Given the description of an element on the screen output the (x, y) to click on. 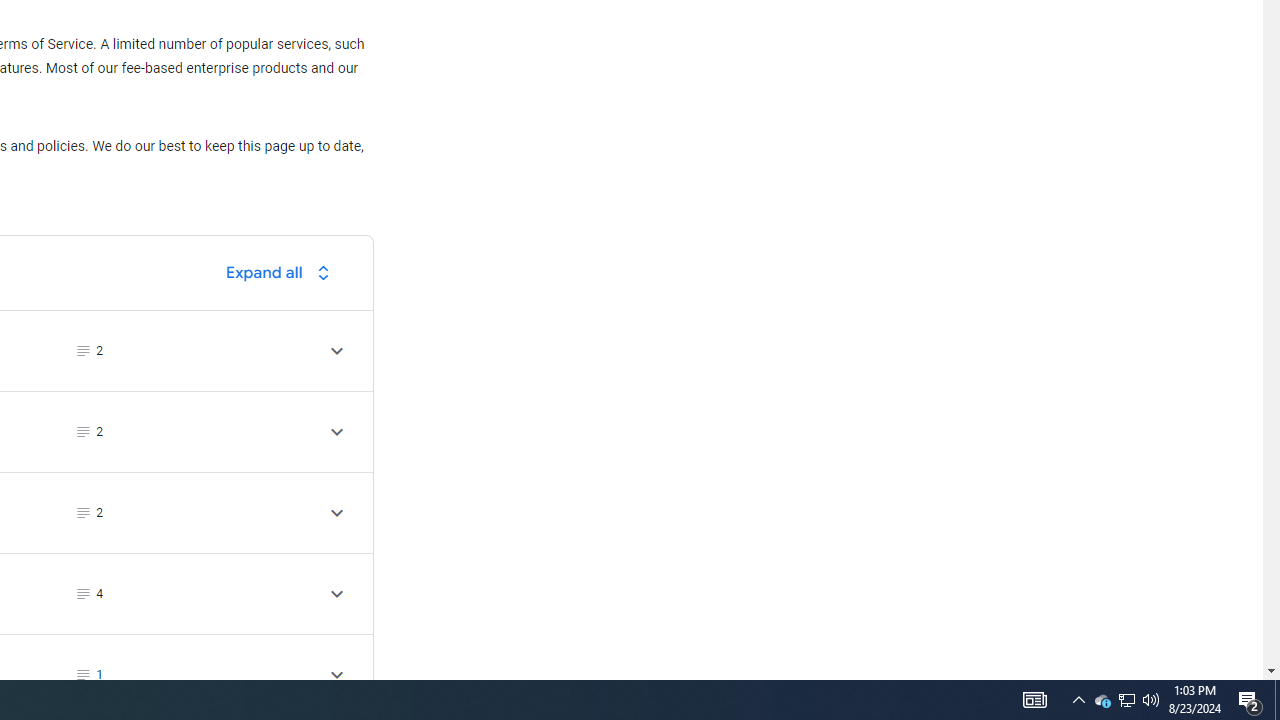
Expand all (283, 272)
